Given the description of an element on the screen output the (x, y) to click on. 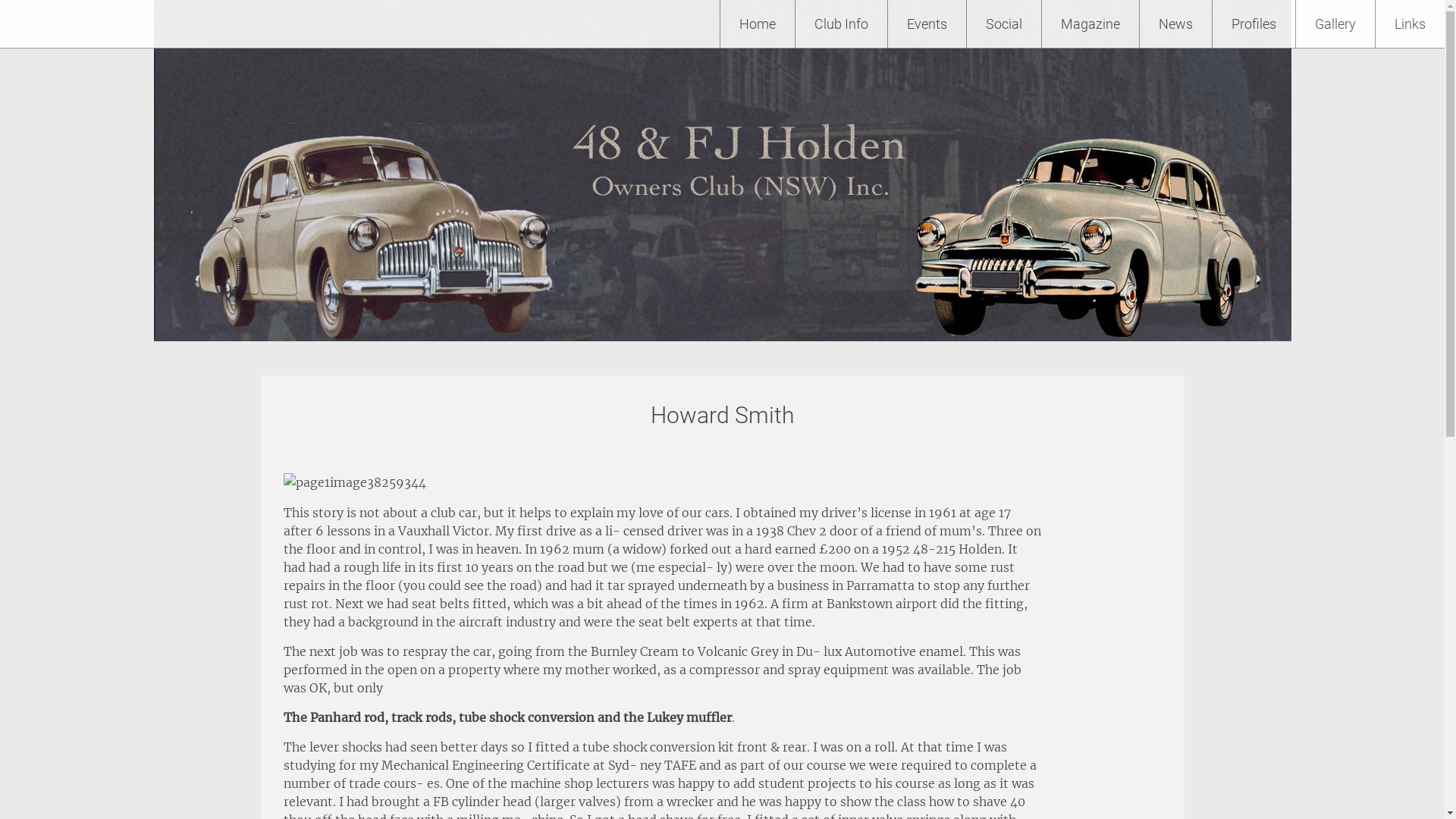
Gallery Element type: text (1334, 23)
Events Element type: text (927, 23)
Club Info Element type: text (841, 23)
Profiles Element type: text (1253, 23)
News Element type: text (1175, 23)
Links Element type: text (1409, 23)
Social Element type: text (1003, 23)
48 & FJ Holden Owners Club (NSW) Inc. Element type: text (254, 24)
Magazine Element type: text (1090, 23)
Howard Smith Element type: text (721, 414)
Home Element type: text (757, 23)
